Given the description of an element on the screen output the (x, y) to click on. 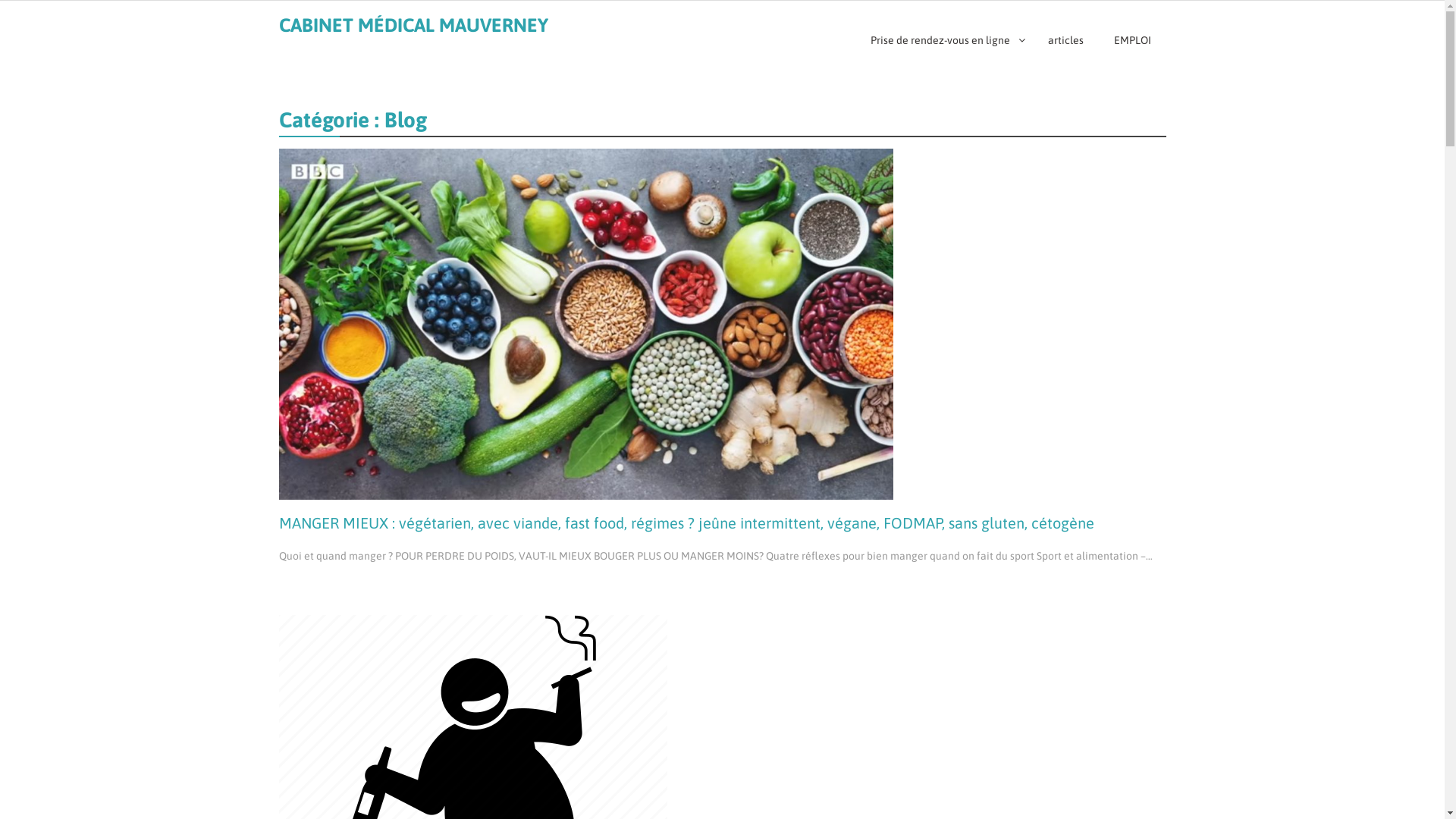
EMPLOI Element type: text (1131, 40)
articles Element type: text (1065, 40)
Prise de rendez-vous en ligne Element type: text (943, 40)
